Given the description of an element on the screen output the (x, y) to click on. 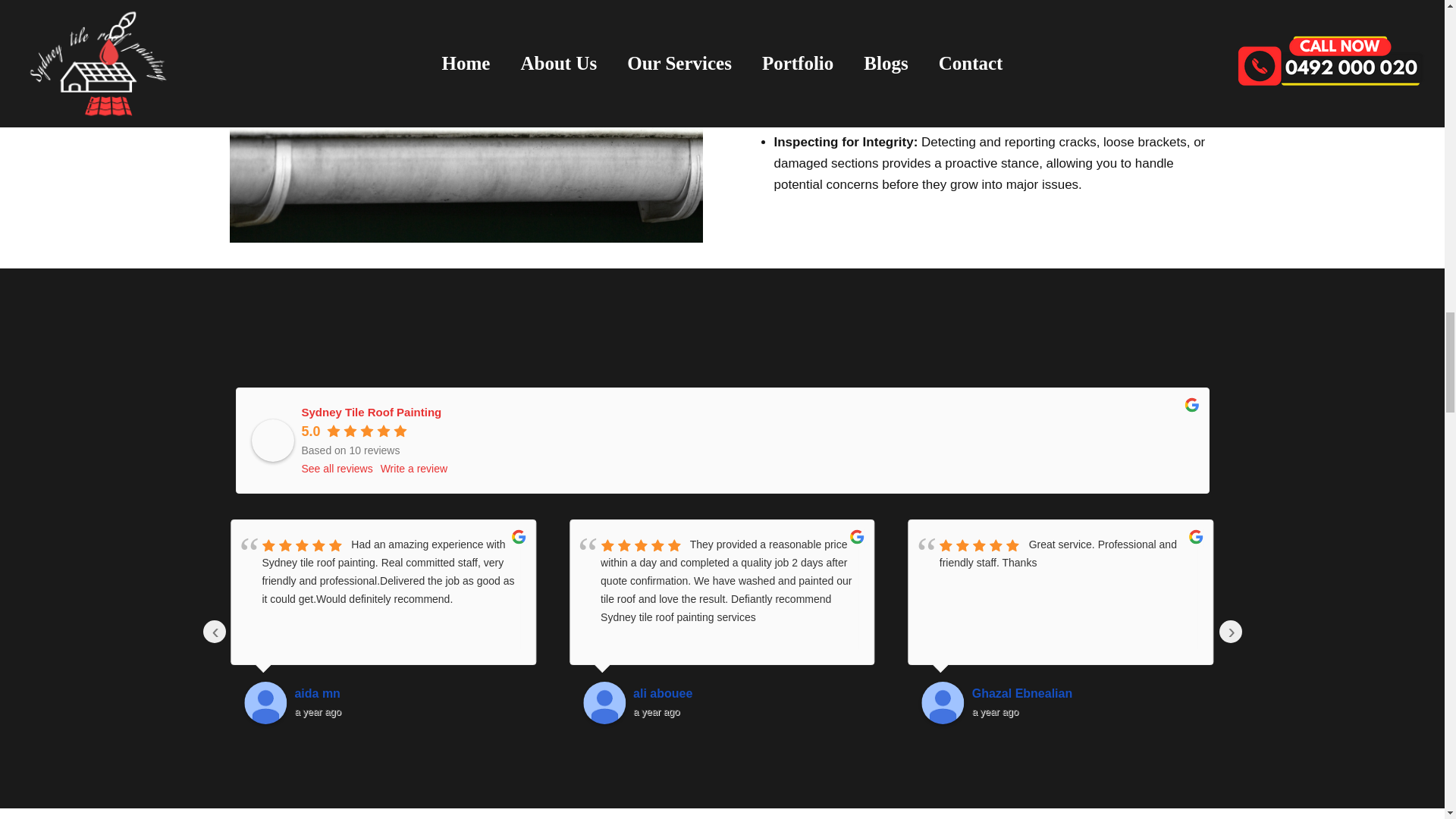
aida mn (408, 693)
See all reviews (336, 468)
aida mn (265, 702)
Sydney Tile Roof Painting (272, 440)
ali abouee (747, 693)
ali abouee (604, 702)
aida mn (408, 693)
Sydney Tile Roof Painting (371, 411)
Ghazal Ebnealian (1085, 693)
Write a review (413, 468)
